Given the description of an element on the screen output the (x, y) to click on. 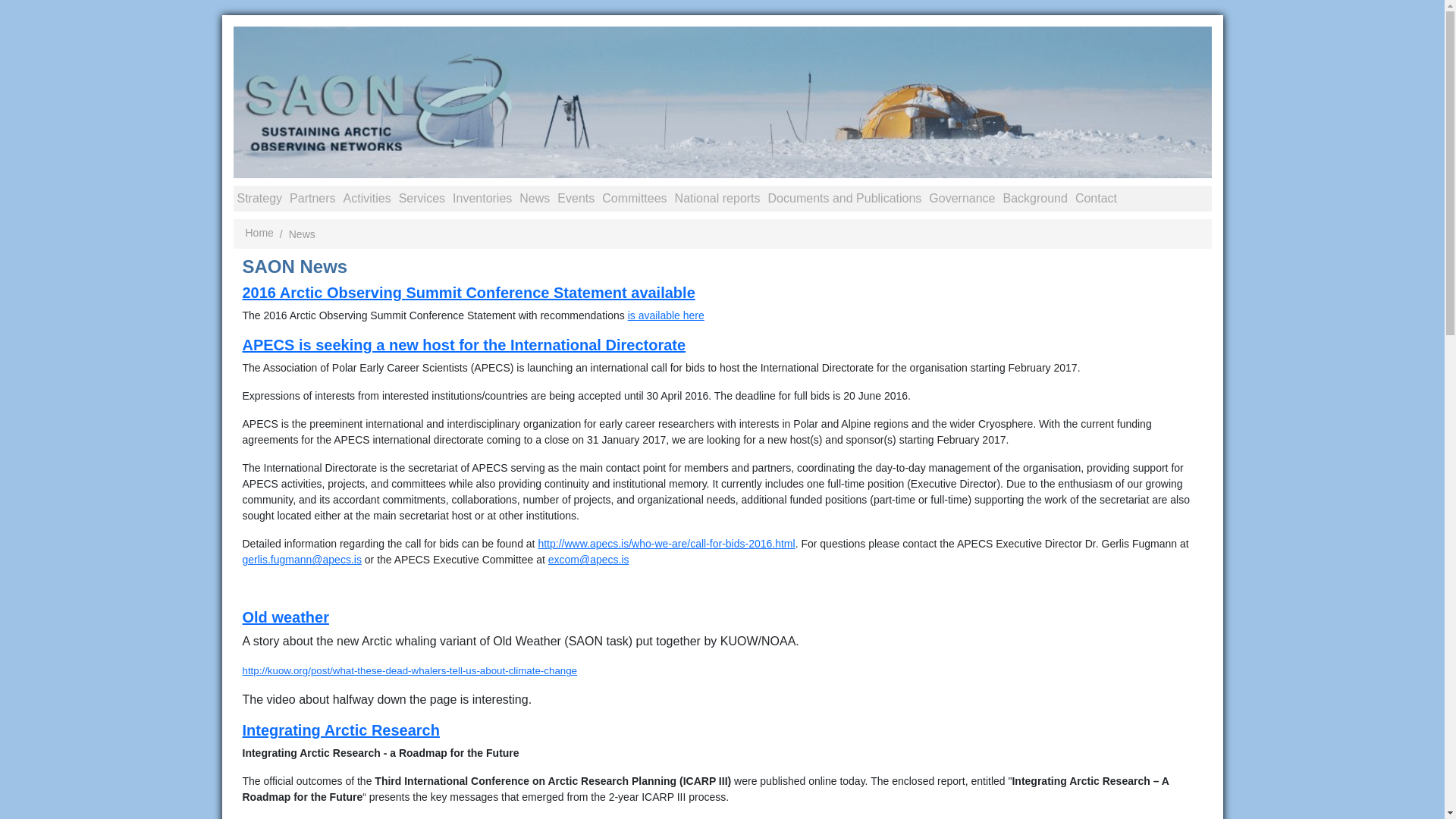
Committees (633, 198)
Inventories (481, 198)
Background (1034, 198)
Partners (312, 198)
Events (575, 198)
Governance (961, 198)
Documents and Publications (845, 198)
National reports (717, 198)
Strategy (259, 198)
Services (421, 198)
Activities (366, 198)
News (534, 198)
